Given the description of an element on the screen output the (x, y) to click on. 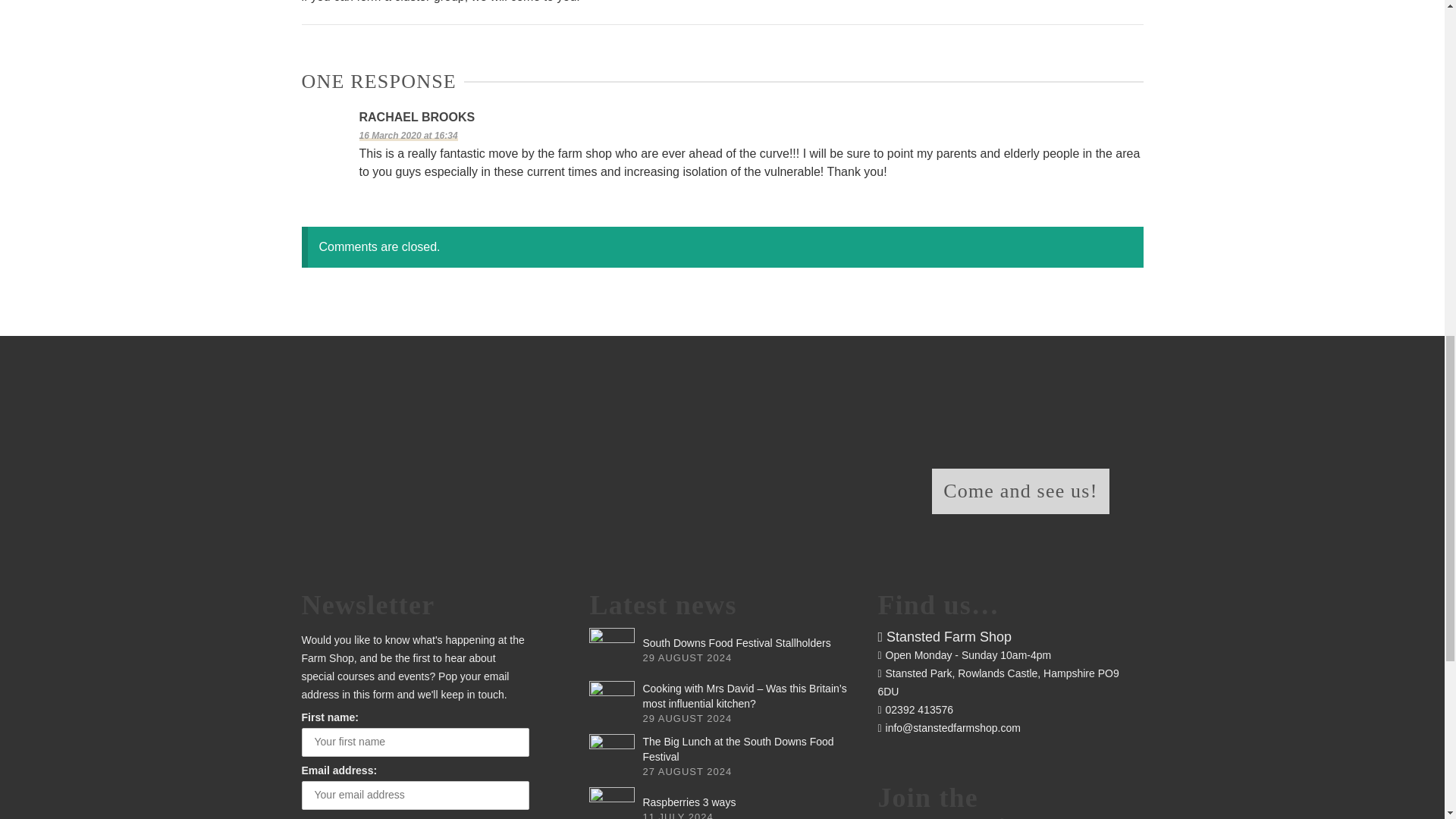
Raspberries 3 ways (688, 802)
The Big Lunch at the South Downs Food Festival (737, 748)
South Downs Food Festival Stallholders (611, 650)
Raspberries 3 ways (611, 803)
16 March 2020 at 16:34 (408, 135)
South Downs Food Festival Stallholders (735, 643)
Raspberries 3 ways (688, 802)
The Big Lunch at the South Downs Food Festival (611, 756)
The Big Lunch at the South Downs Food Festival (737, 748)
South Downs Food Festival Stallholders (735, 643)
